Given the description of an element on the screen output the (x, y) to click on. 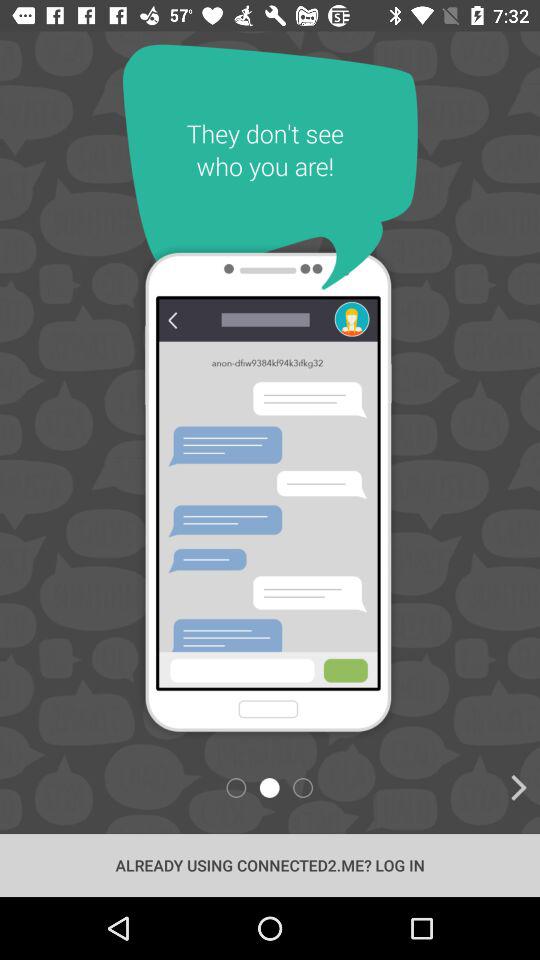
launch the icon above already using connected2 item (422, 787)
